Given the description of an element on the screen output the (x, y) to click on. 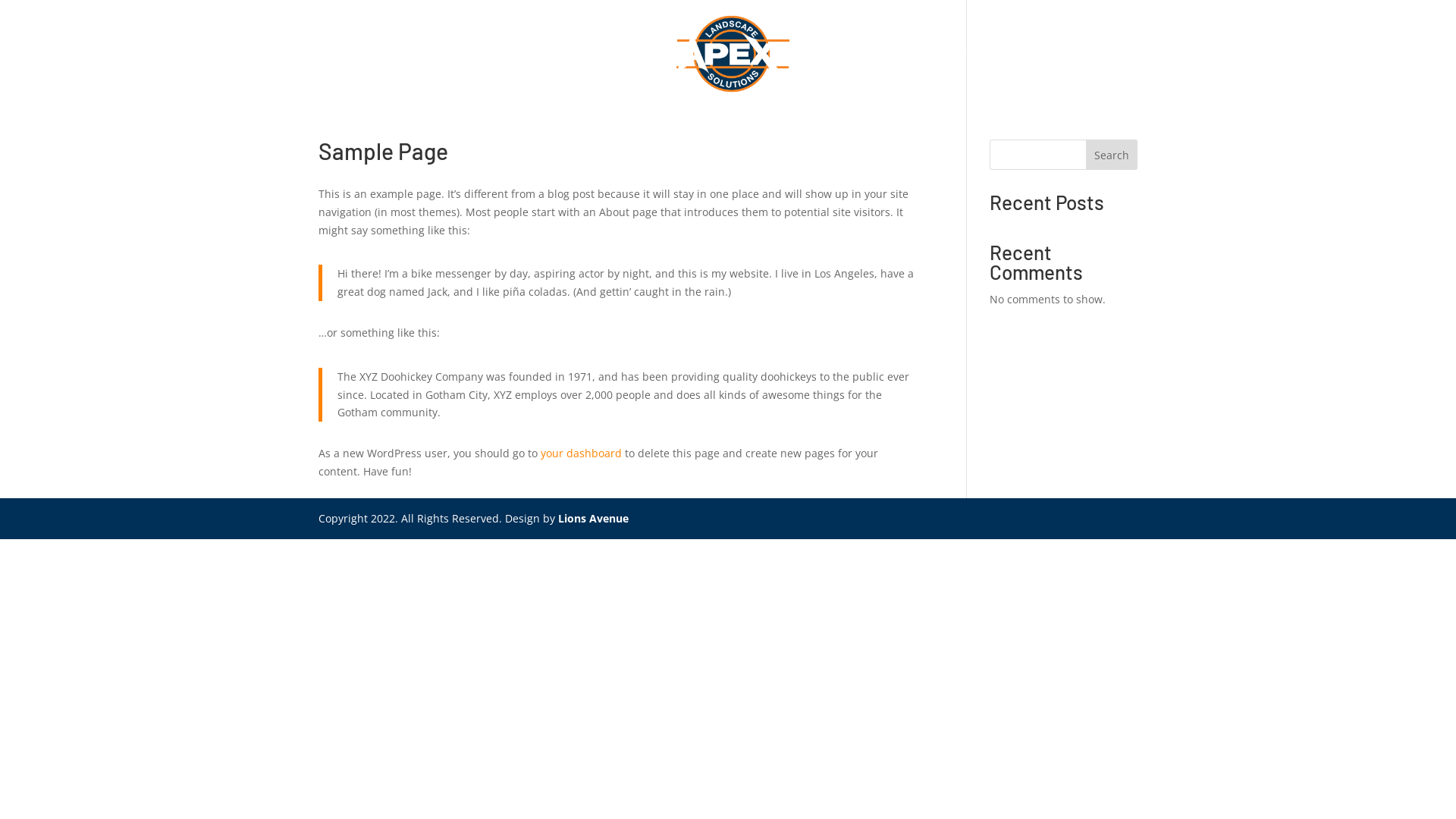
your dashboard Element type: text (580, 452)
ABOUT US Element type: text (489, 71)
OUR WORK Element type: text (852, 71)
REVIEWS Element type: text (942, 71)
OUR SERVICES Element type: text (598, 71)
Search Element type: text (1111, 154)
Lions Avenue Element type: text (593, 518)
CONTACT Element type: text (1027, 71)
HOME Element type: text (414, 71)
